Given the description of an element on the screen output the (x, y) to click on. 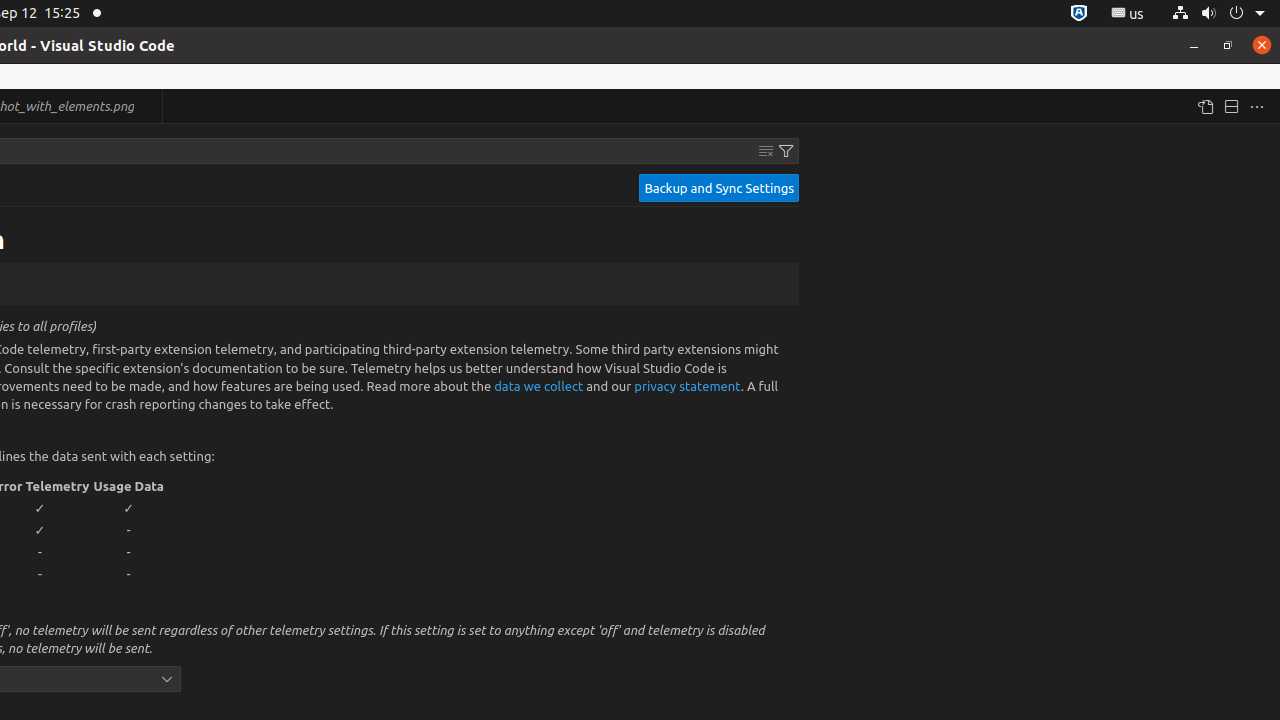
- Element type: table-cell (129, 530)
Close (Ctrl+W) Element type: push-button (148, 106)
